Given the description of an element on the screen output the (x, y) to click on. 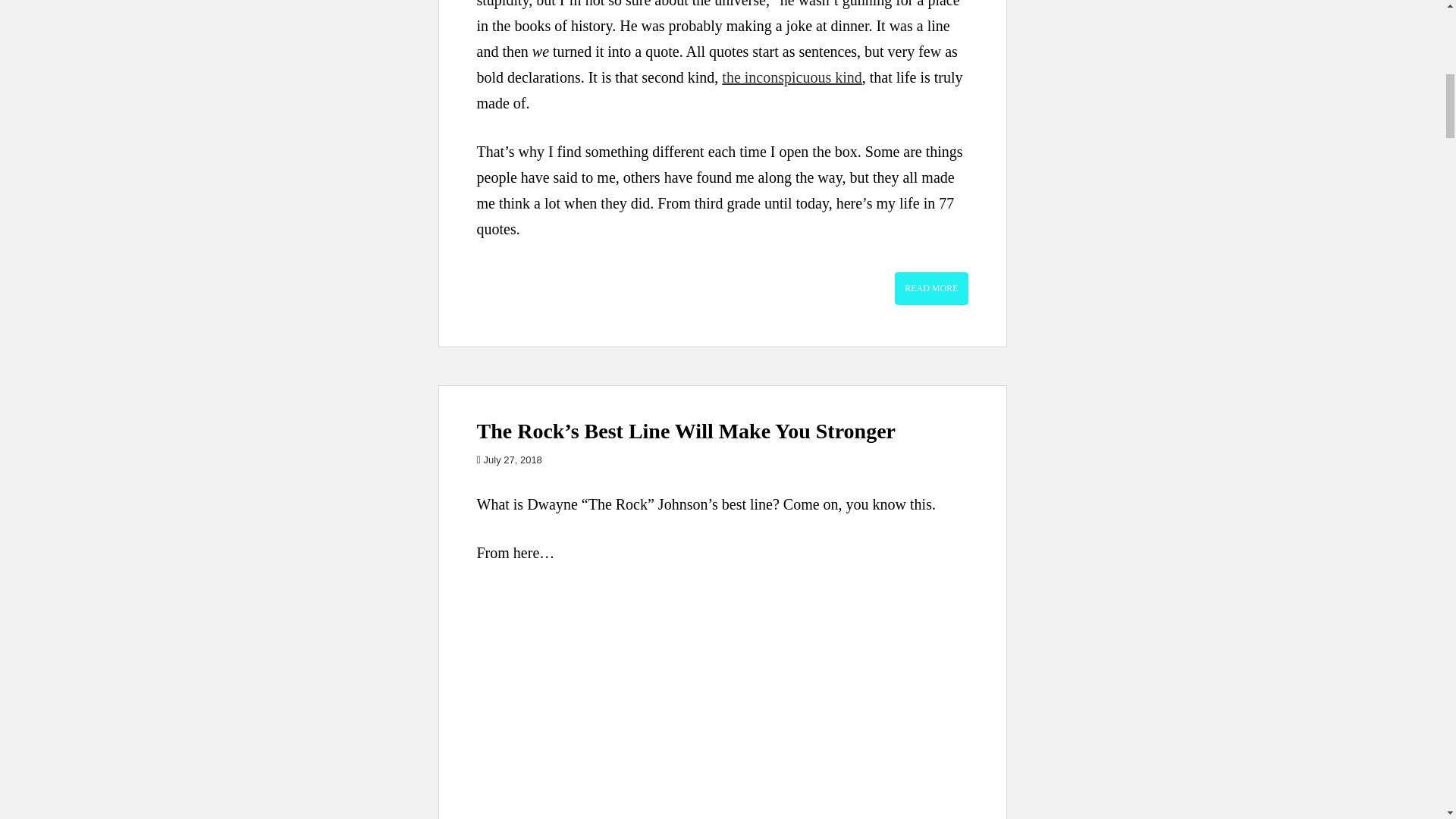
the inconspicuous kind (791, 76)
July 27, 2018 (512, 460)
READ MORE (931, 287)
